Given the description of an element on the screen output the (x, y) to click on. 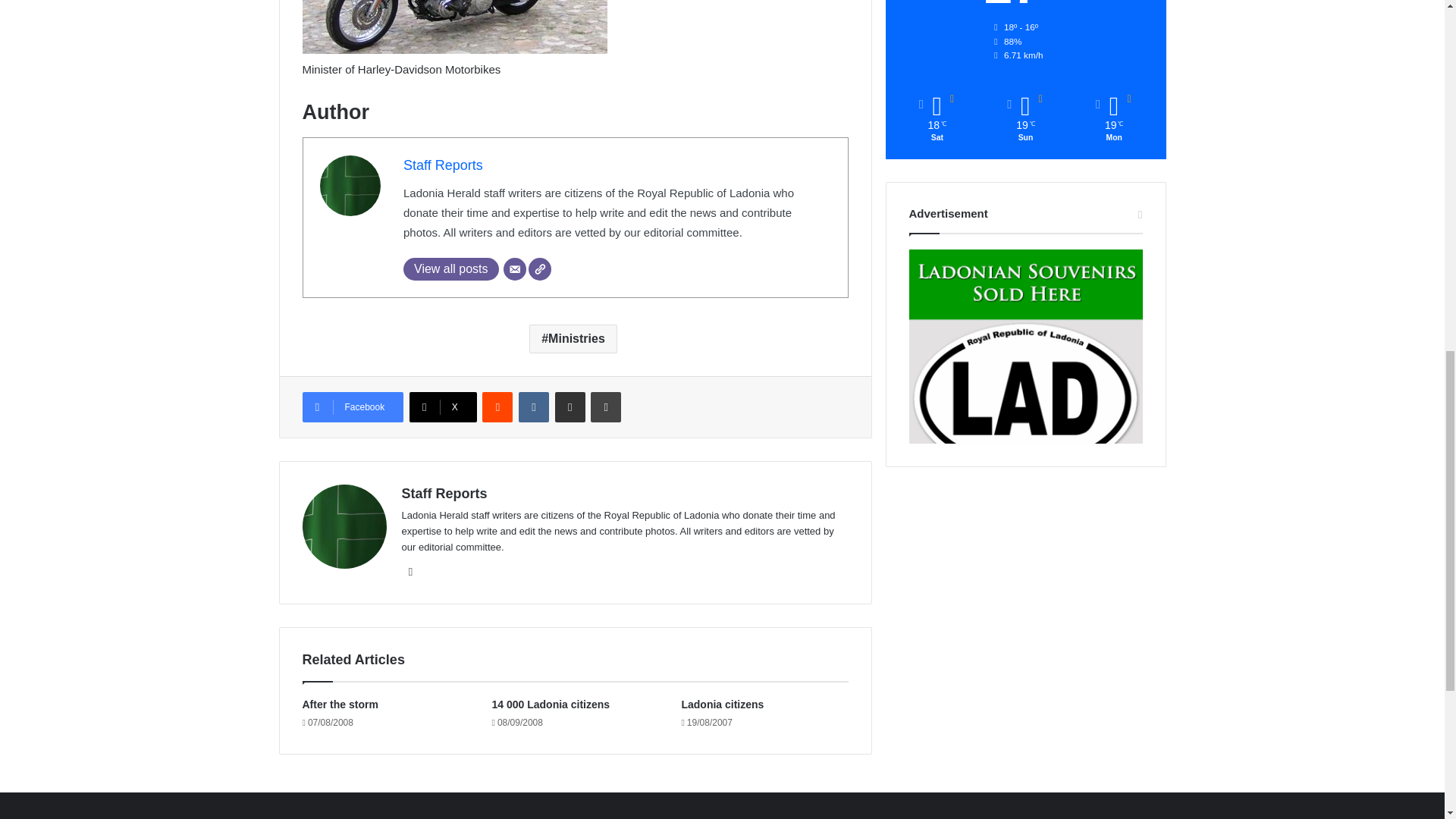
Staff Reports (443, 165)
View all posts (451, 268)
X (443, 407)
Website (410, 571)
Facebook (352, 407)
Facebook (352, 407)
Reddit (496, 407)
Reddit (496, 407)
VKontakte (533, 407)
14 000 Ladonia citizens (551, 704)
